Given the description of an element on the screen output the (x, y) to click on. 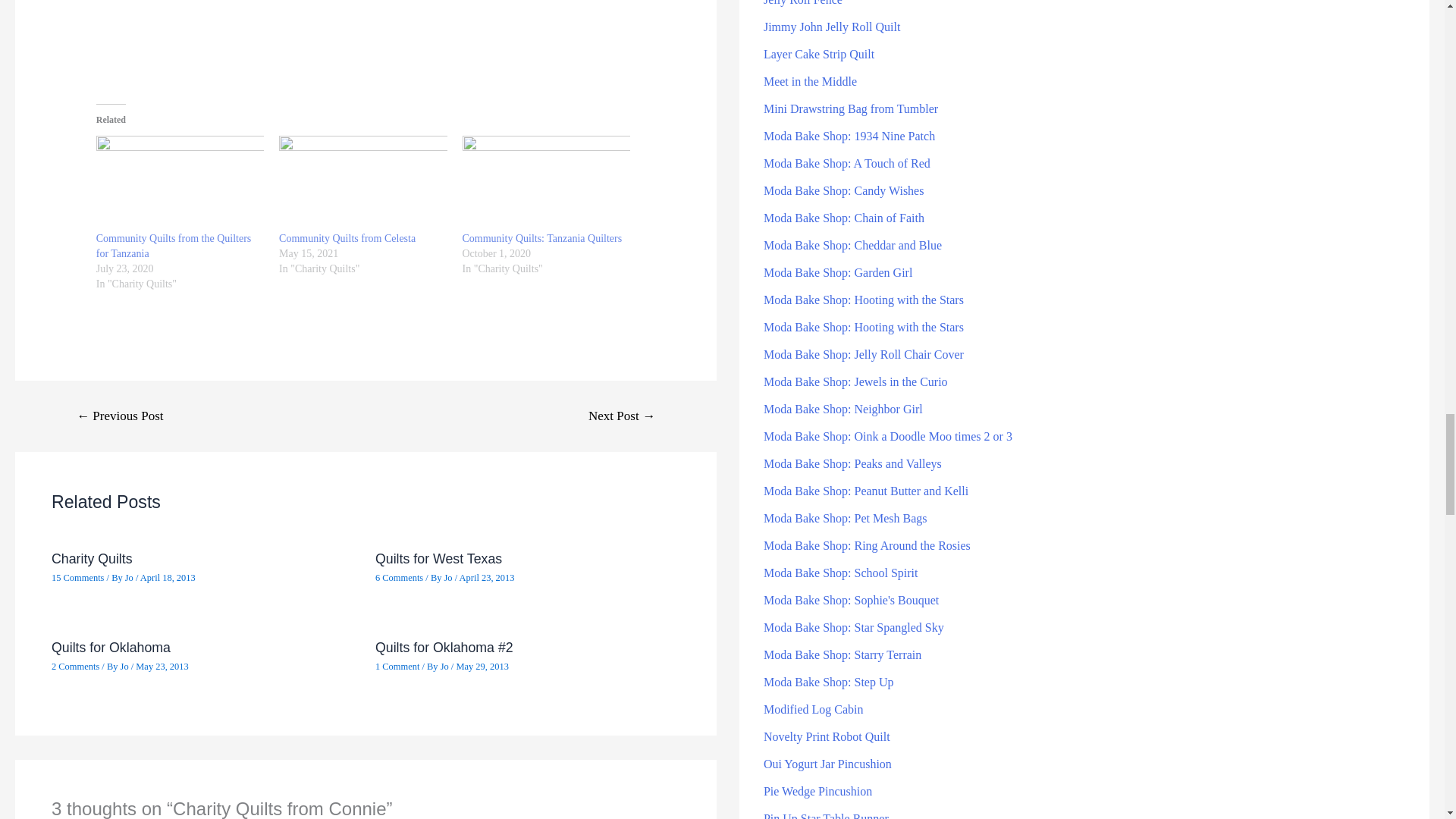
Community Quilts:  Tanzania Quilters (546, 183)
Community Quilts from Celesta (362, 183)
View all posts by Jo (449, 577)
Community Quilts from the Quilters for Tanzania (173, 245)
Community Quilts from the Quilters for Tanzania (179, 183)
Community Quilts:  Tanzania Quilters (543, 238)
View all posts by Jo (125, 665)
Community Quilts from Celesta (346, 238)
View all posts by Jo (130, 577)
